Given the description of an element on the screen output the (x, y) to click on. 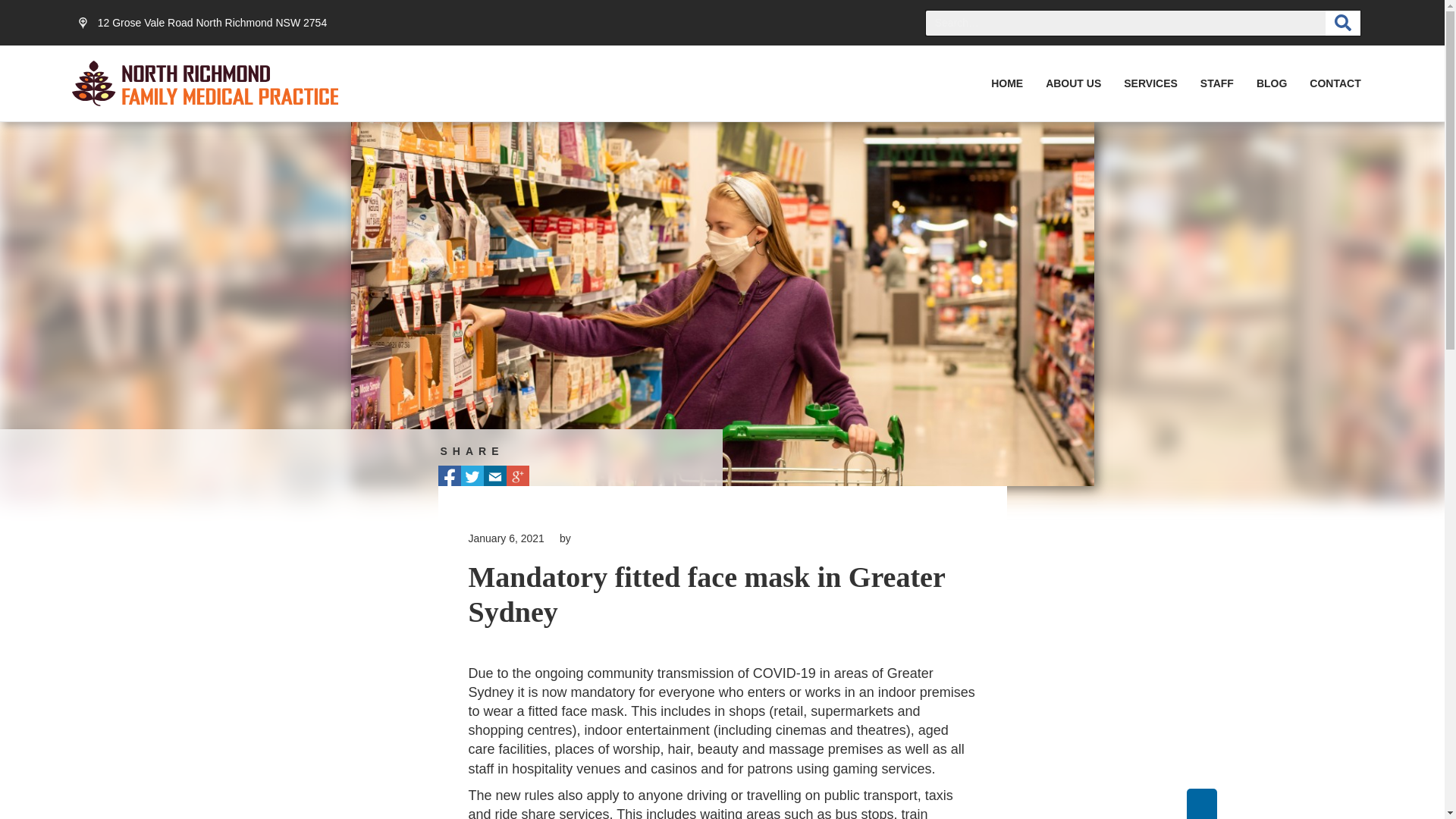
STAFF Element type: text (1217, 83)
Tweet Element type: hover (472, 476)
ABOUT US Element type: text (1073, 83)
HOME Element type: text (1006, 83)
BLOG Element type: text (1271, 83)
CONTACT Element type: text (1334, 83)
SERVICES Element type: text (1150, 83)
Share on 
Facebook Element type: hover (449, 476)
Email Element type: hover (494, 476)
12 Grose Vale Road North Richmond NSW 2754 Element type: text (200, 22)
Share on Google+ Element type: hover (517, 476)
